Given the description of an element on the screen output the (x, y) to click on. 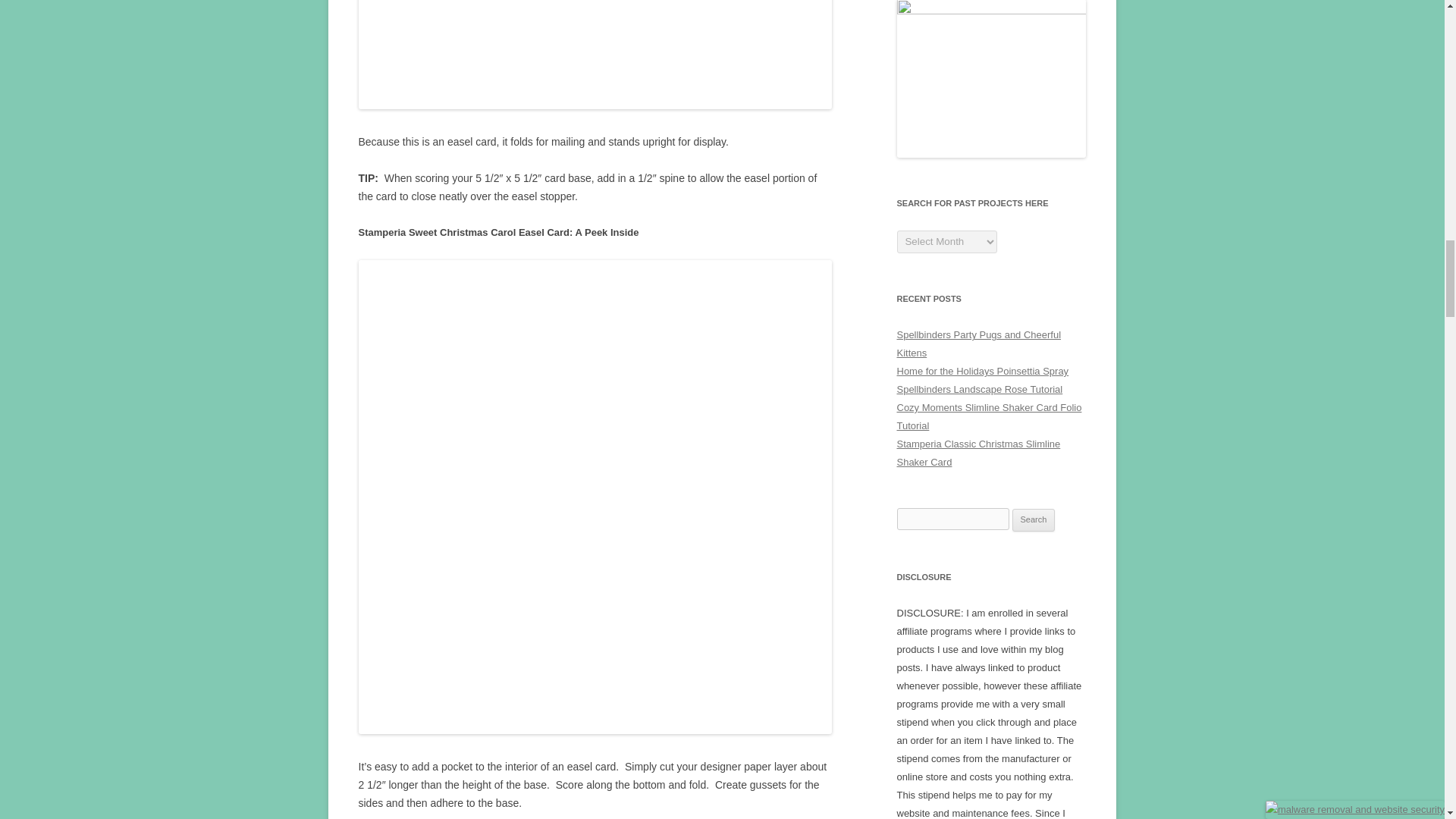
Search (1033, 519)
